Given the description of an element on the screen output the (x, y) to click on. 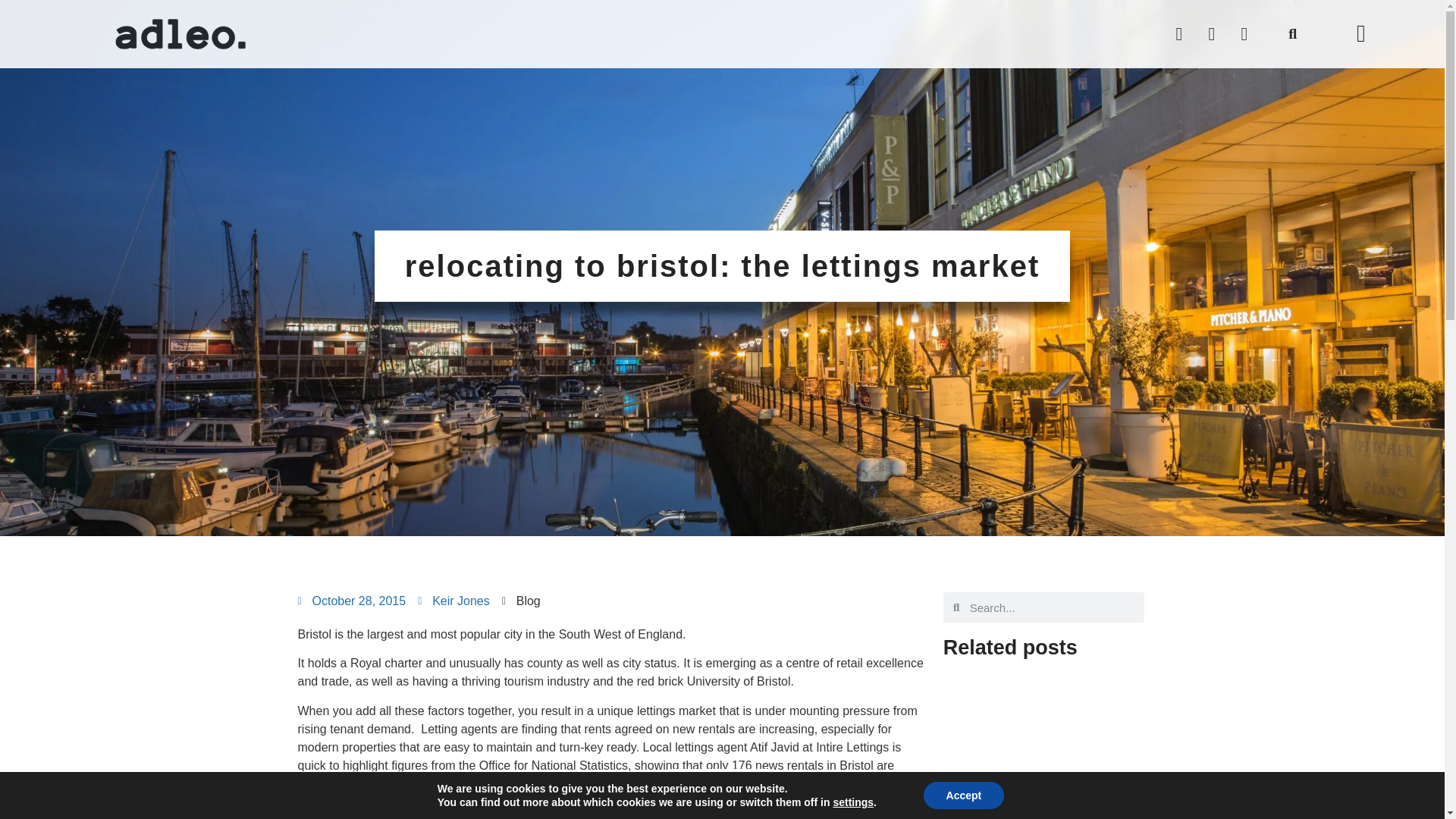
October 28, 2015 (351, 601)
Book a Call (721, 786)
Keir Jones (453, 601)
relocating to bristol: the lettings market (721, 287)
